Given the description of an element on the screen output the (x, y) to click on. 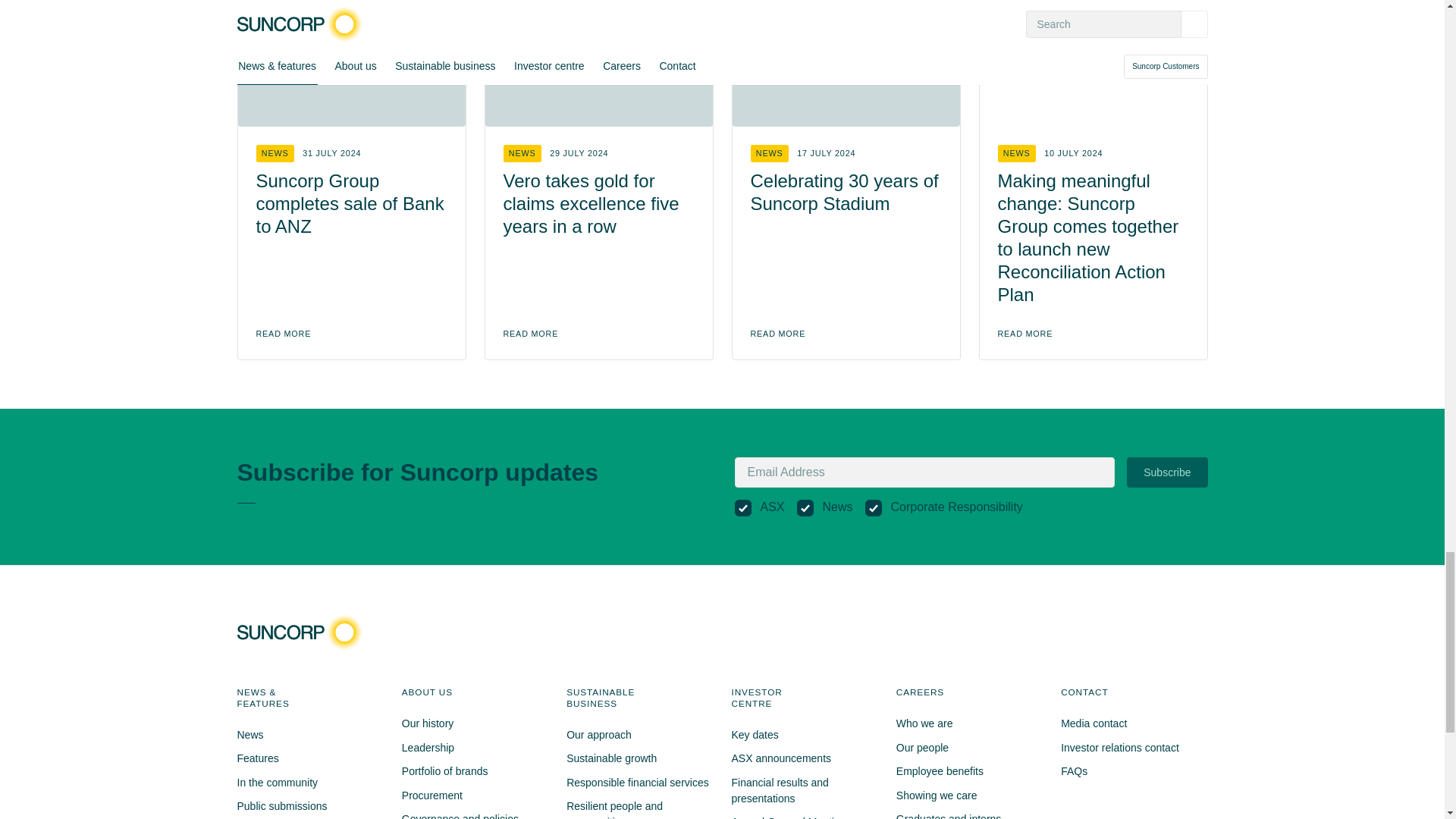
Suncorp Group Logo - Link to homepage (302, 632)
Link to twitter (1131, 632)
Link to youtube (1185, 632)
Link to linkedin (1158, 632)
Link to facebook (1104, 632)
